Given the description of an element on the screen output the (x, y) to click on. 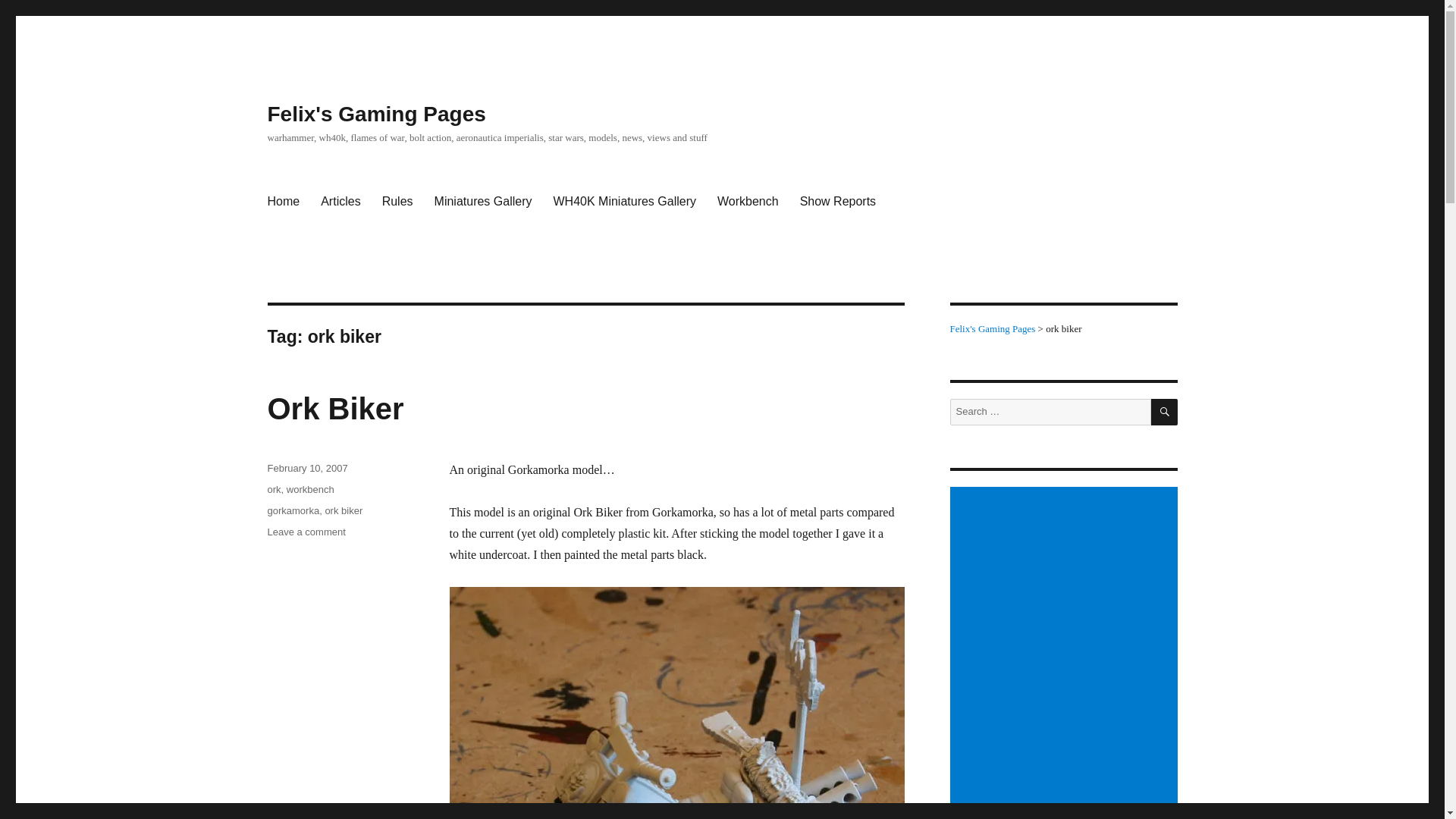
ork (273, 489)
Go to Felix's Gaming Pages. (992, 328)
WH40K Miniatures Gallery (623, 201)
Rules (397, 201)
Home (283, 201)
February 10, 2007 (306, 468)
Miniatures Gallery (483, 201)
Articles (340, 201)
Show Reports (837, 201)
Workbench (747, 201)
SEARCH (305, 531)
workbench (1164, 411)
ork biker (310, 489)
Ork Biker (343, 510)
